Given the description of an element on the screen output the (x, y) to click on. 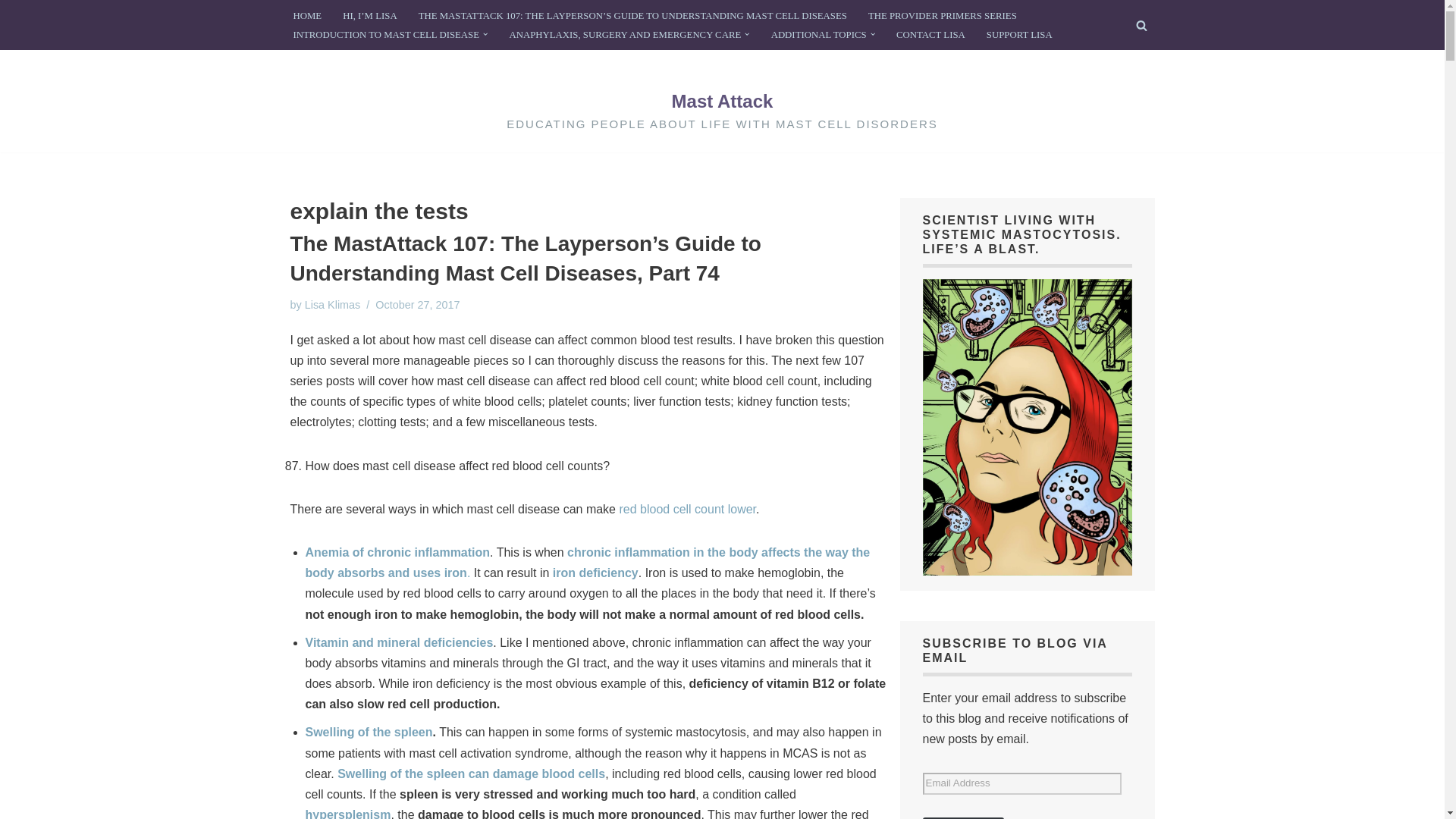
ADDITIONAL TOPICS (818, 34)
INTRODUCTION TO MAST CELL DISEASE (385, 34)
HOME (306, 15)
ANAPHYLAXIS, SURGERY AND EMERGENCY CARE (624, 34)
THE PROVIDER PRIMERS SERIES (941, 15)
CONTACT LISA (930, 34)
Skip to content (11, 31)
Posts by Lisa Klimas (332, 304)
SUPPORT LISA (1019, 34)
